Given the description of an element on the screen output the (x, y) to click on. 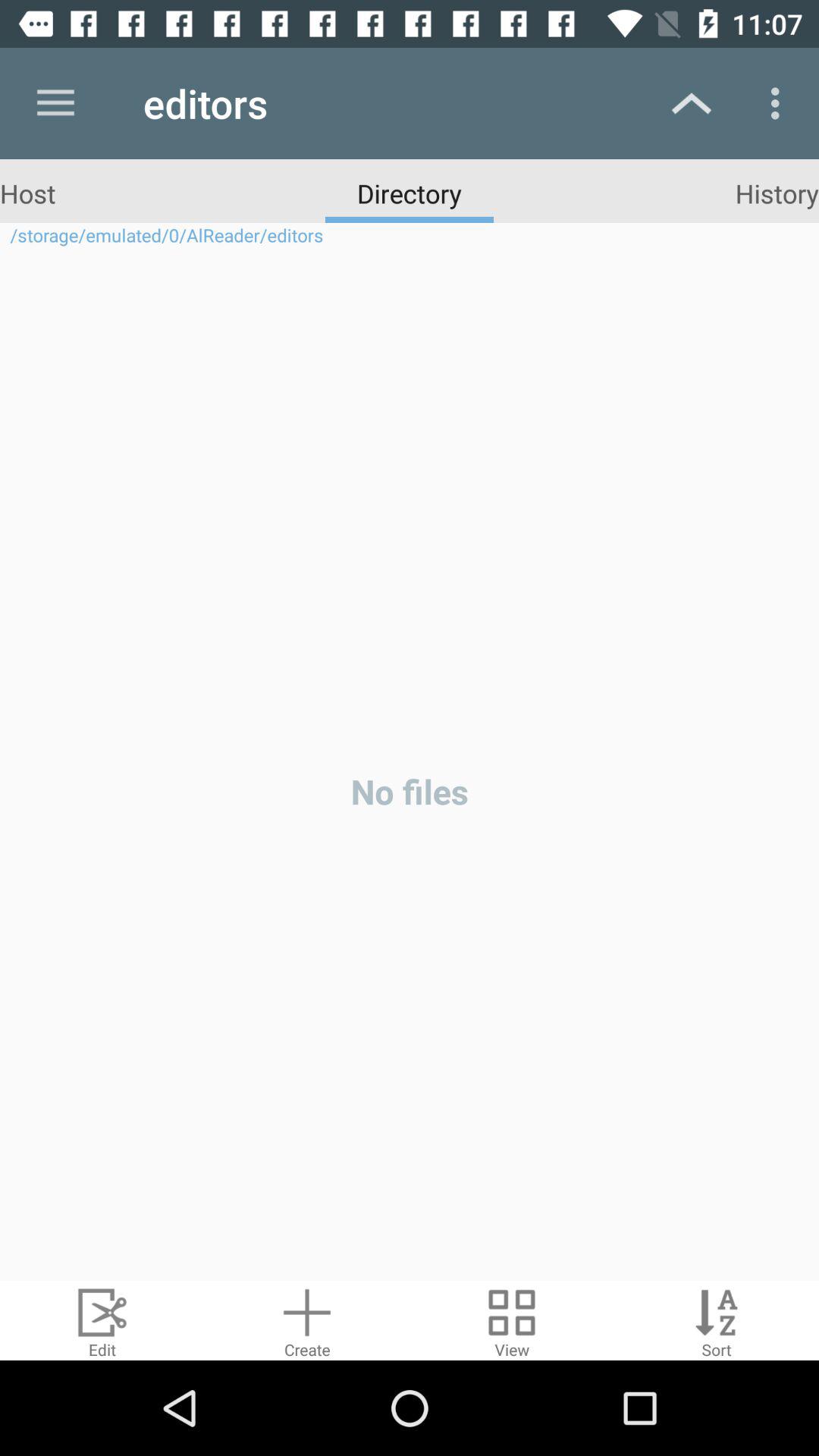
press icon above host (55, 103)
